Given the description of an element on the screen output the (x, y) to click on. 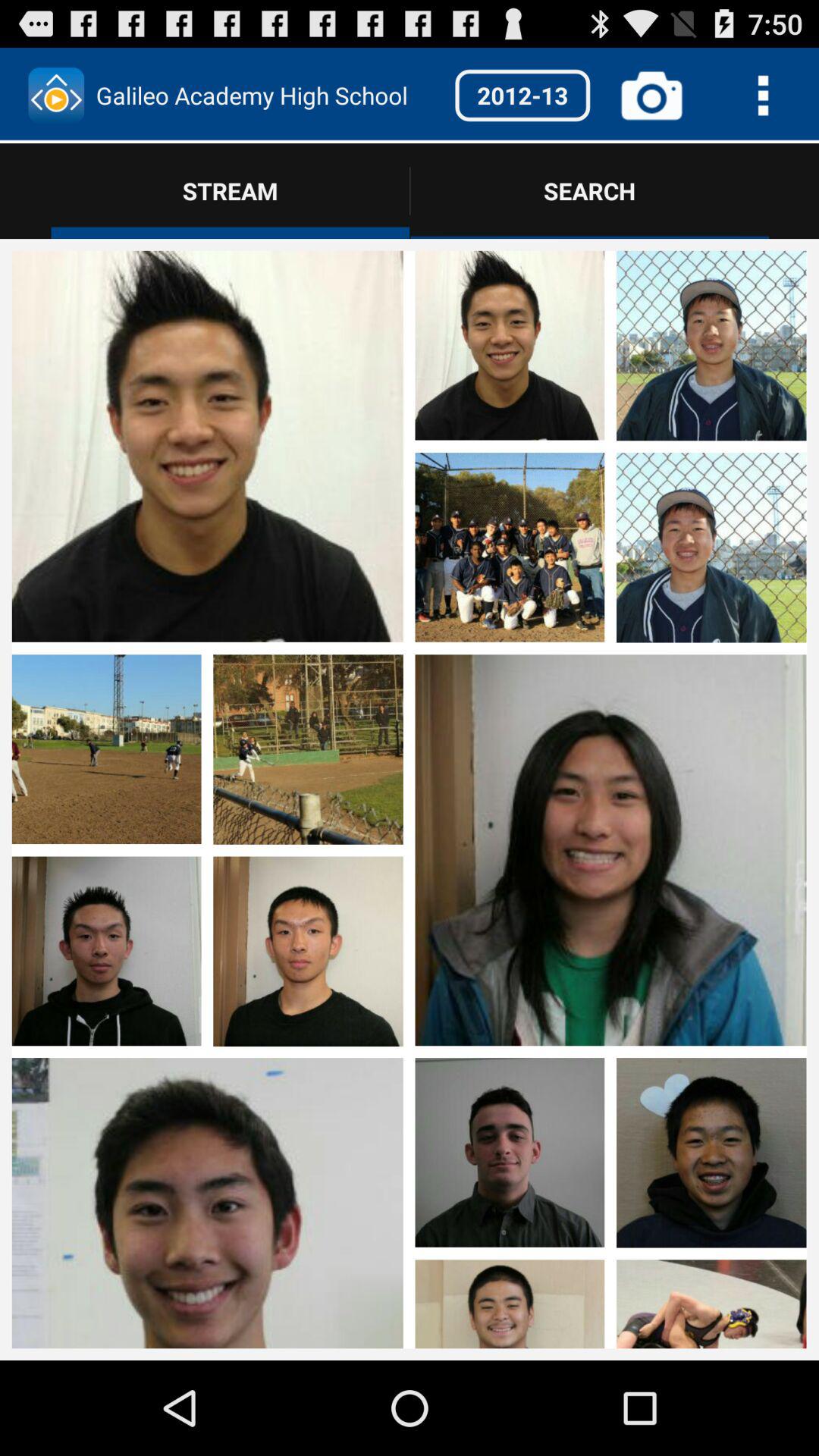
photo (711, 750)
